Given the description of an element on the screen output the (x, y) to click on. 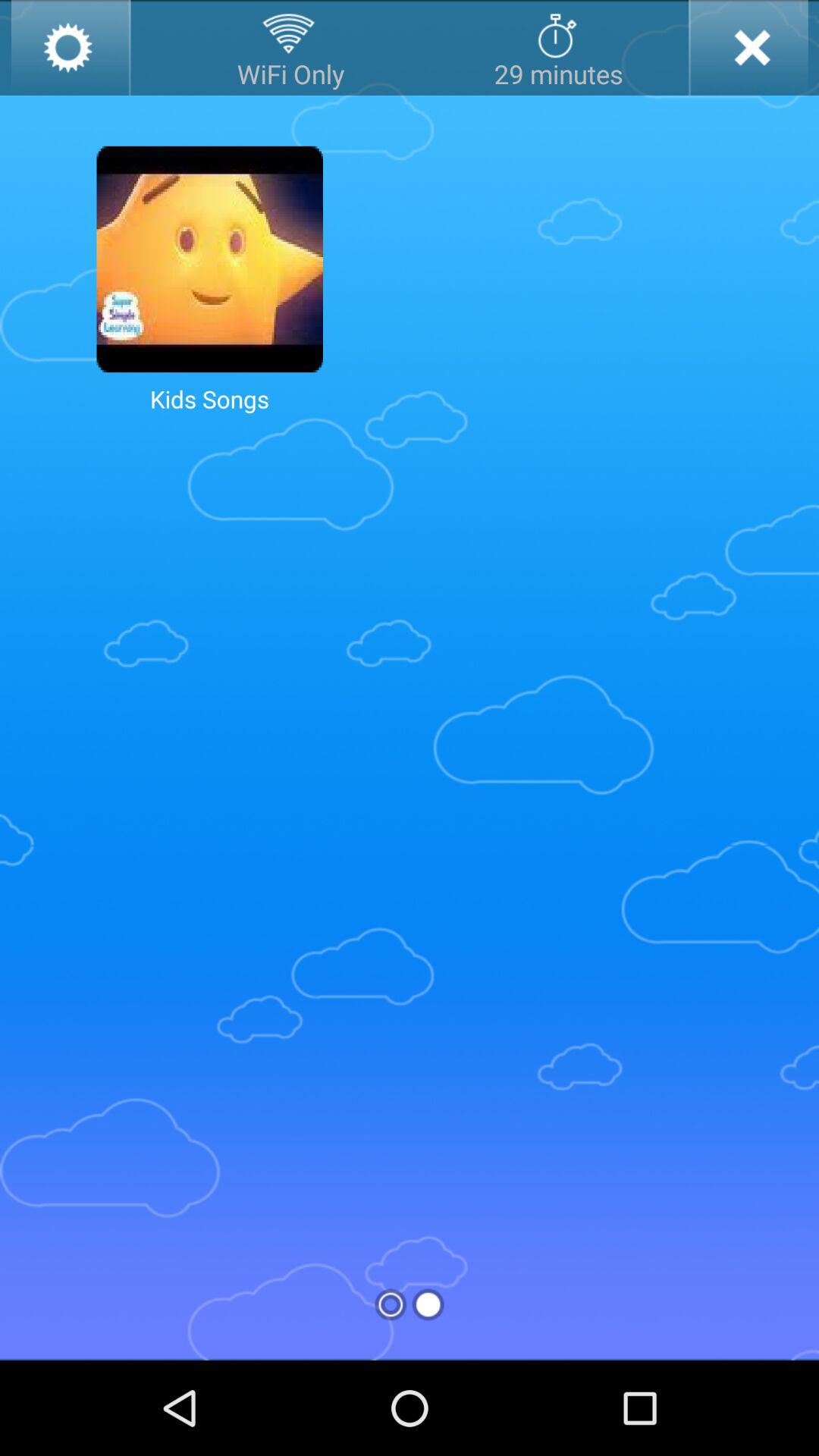
open kids songs (209, 259)
